Given the description of an element on the screen output the (x, y) to click on. 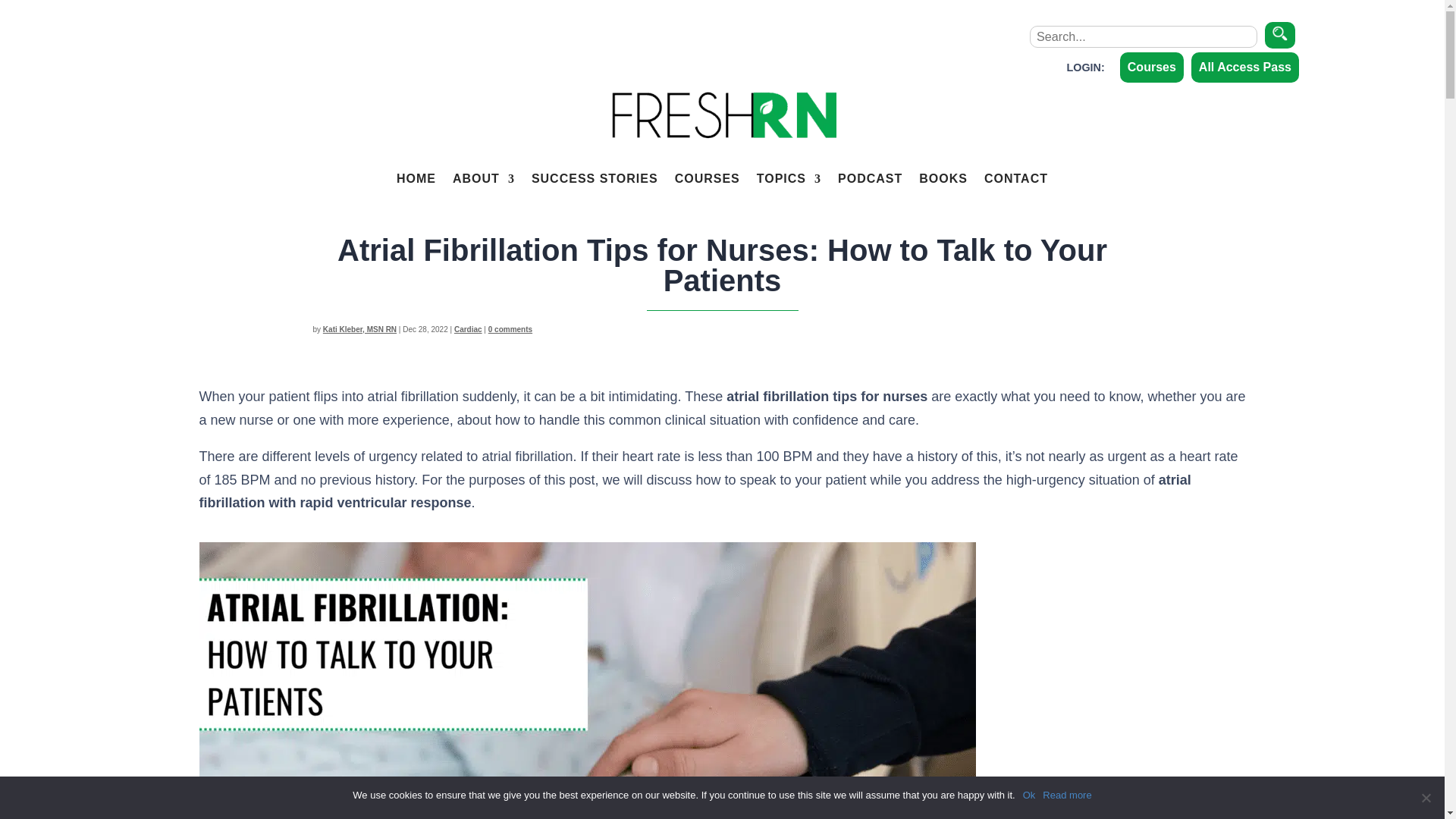
All Access Pass (1244, 67)
ABOUT (483, 178)
Courses (1151, 67)
HOME (415, 178)
SUCCESS STORIES (594, 178)
TOPICS (789, 178)
BOOKS (943, 178)
No (1425, 797)
PODCAST (870, 178)
CONTACT (1016, 178)
COURSES (707, 178)
Posts by Kati Kleber, MSN RN (359, 329)
